Given the description of an element on the screen output the (x, y) to click on. 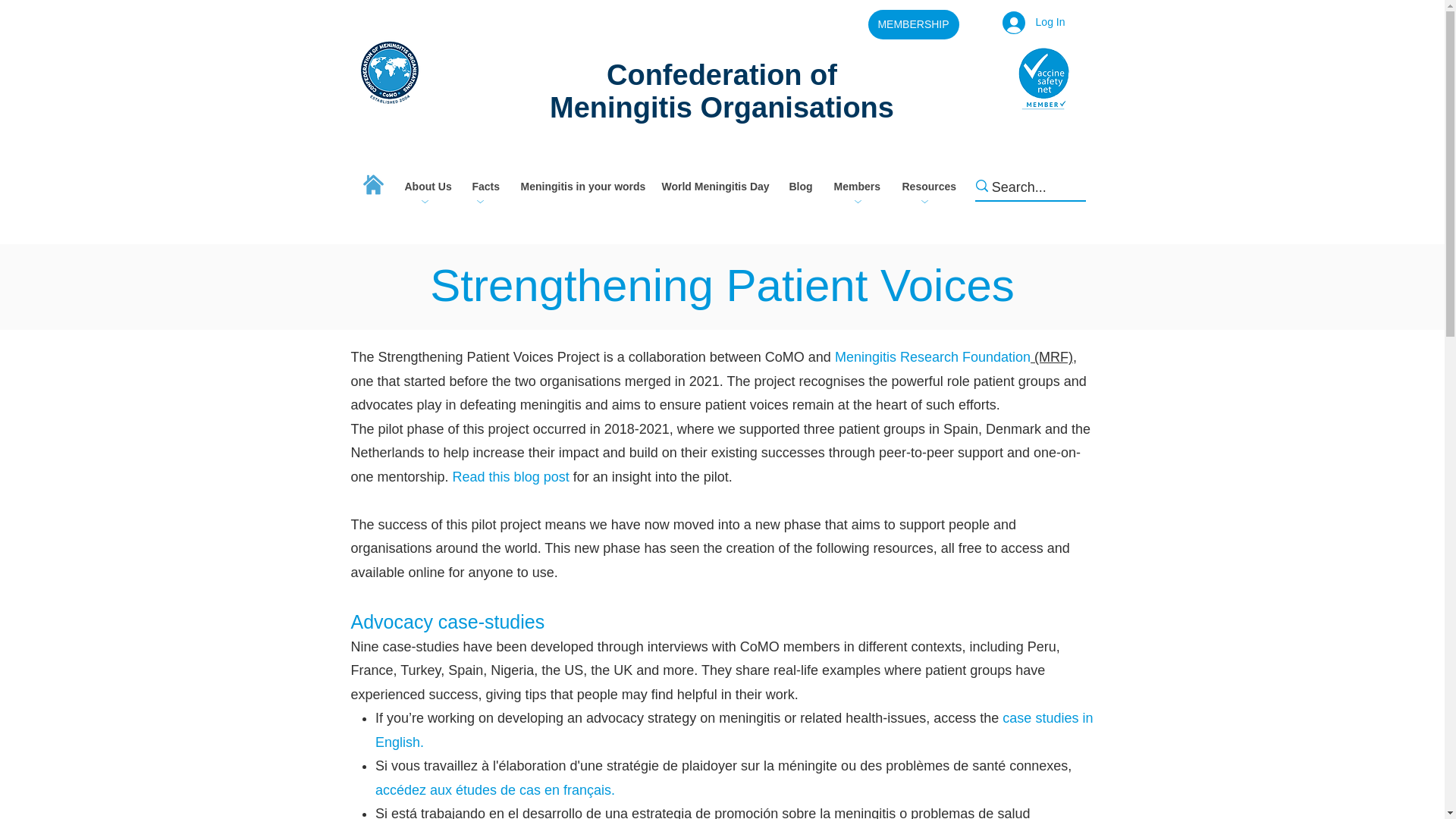
About Us (426, 186)
MEMBERSHIP (912, 24)
Organisations (796, 107)
Meningitis in your words (578, 186)
Facts (484, 186)
Blog (798, 186)
Log In (1033, 21)
Confederation of Meningitis  (693, 90)
Members (855, 186)
World Meningitis Day (712, 186)
Meningitis Research Foundation (932, 356)
